Given the description of an element on the screen output the (x, y) to click on. 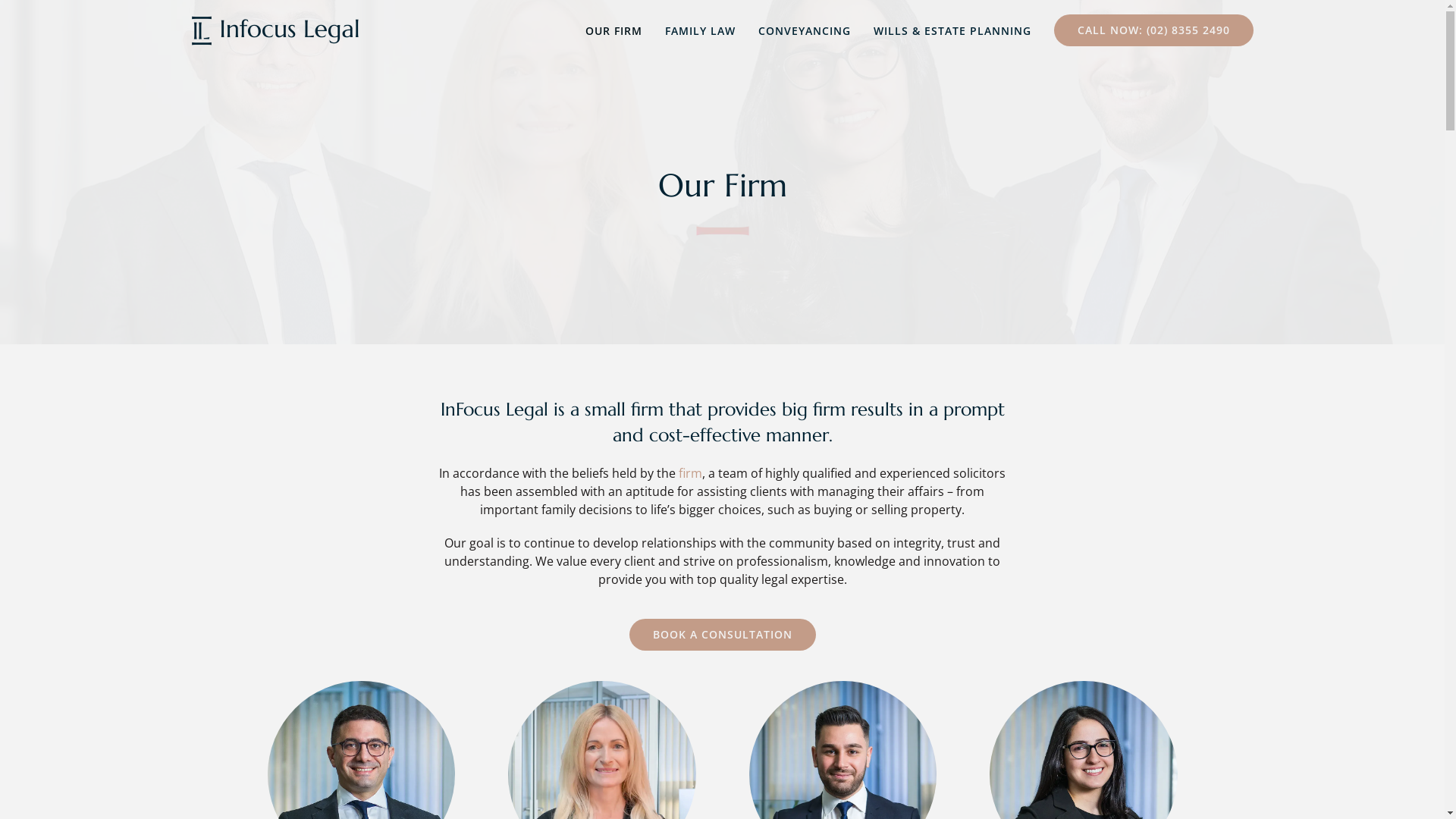
OUR FIRM Element type: text (613, 30)
CALL NOW: (02) 8355 2490 Element type: text (1153, 30)
CONVEYANCING Element type: text (804, 30)
FAMILY LAW Element type: text (699, 30)
BOOK A CONSULTATION Element type: text (722, 634)
firm Element type: text (690, 472)
WILLS & ESTATE PLANNING Element type: text (952, 30)
